Given the description of an element on the screen output the (x, y) to click on. 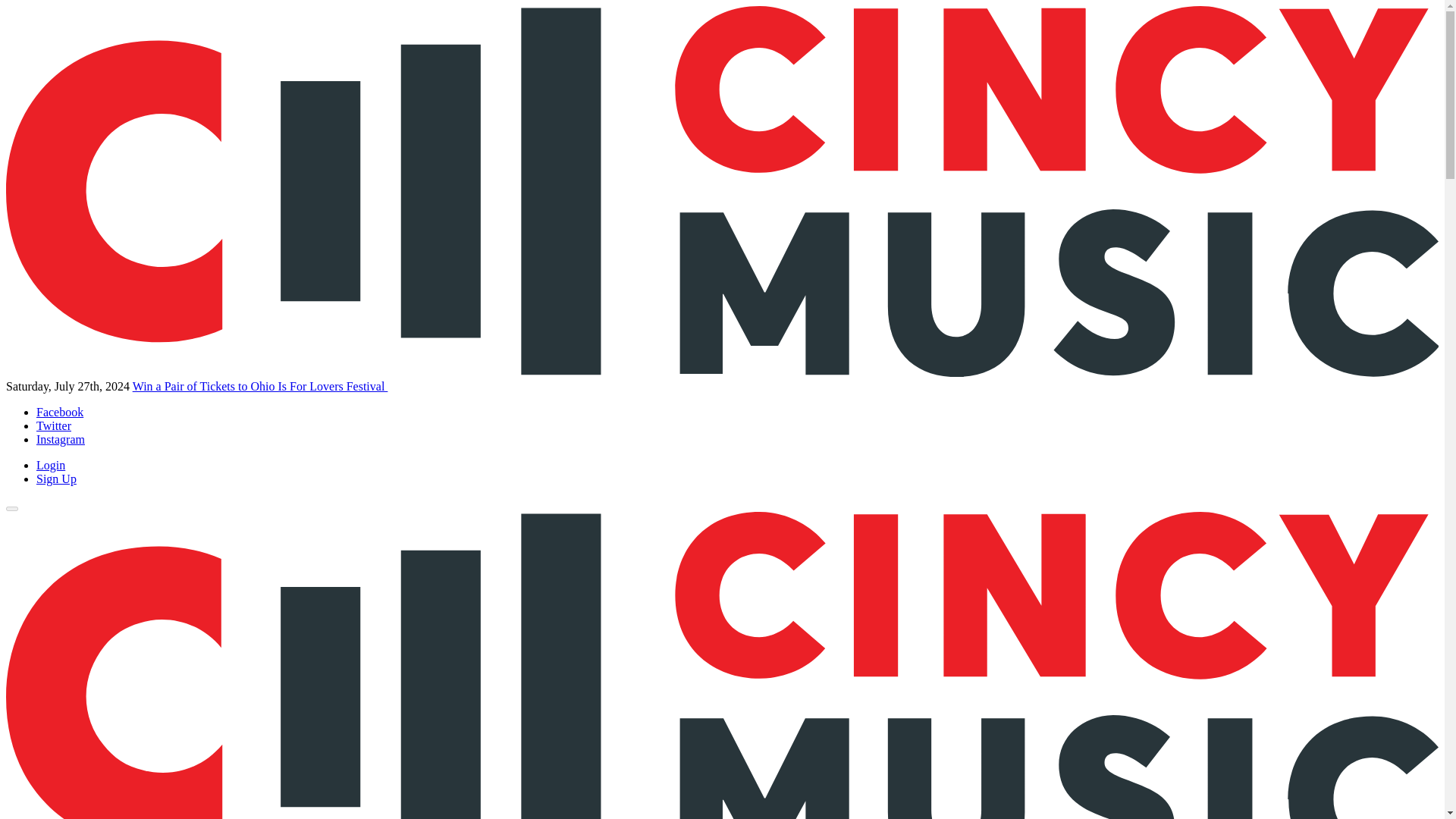
Win a Pair of Tickets to Ohio Is For Lovers Festival  (260, 386)
Sign Up (56, 478)
Facebook (59, 411)
Login (50, 464)
Instagram (60, 439)
Twitter (53, 425)
